Given the description of an element on the screen output the (x, y) to click on. 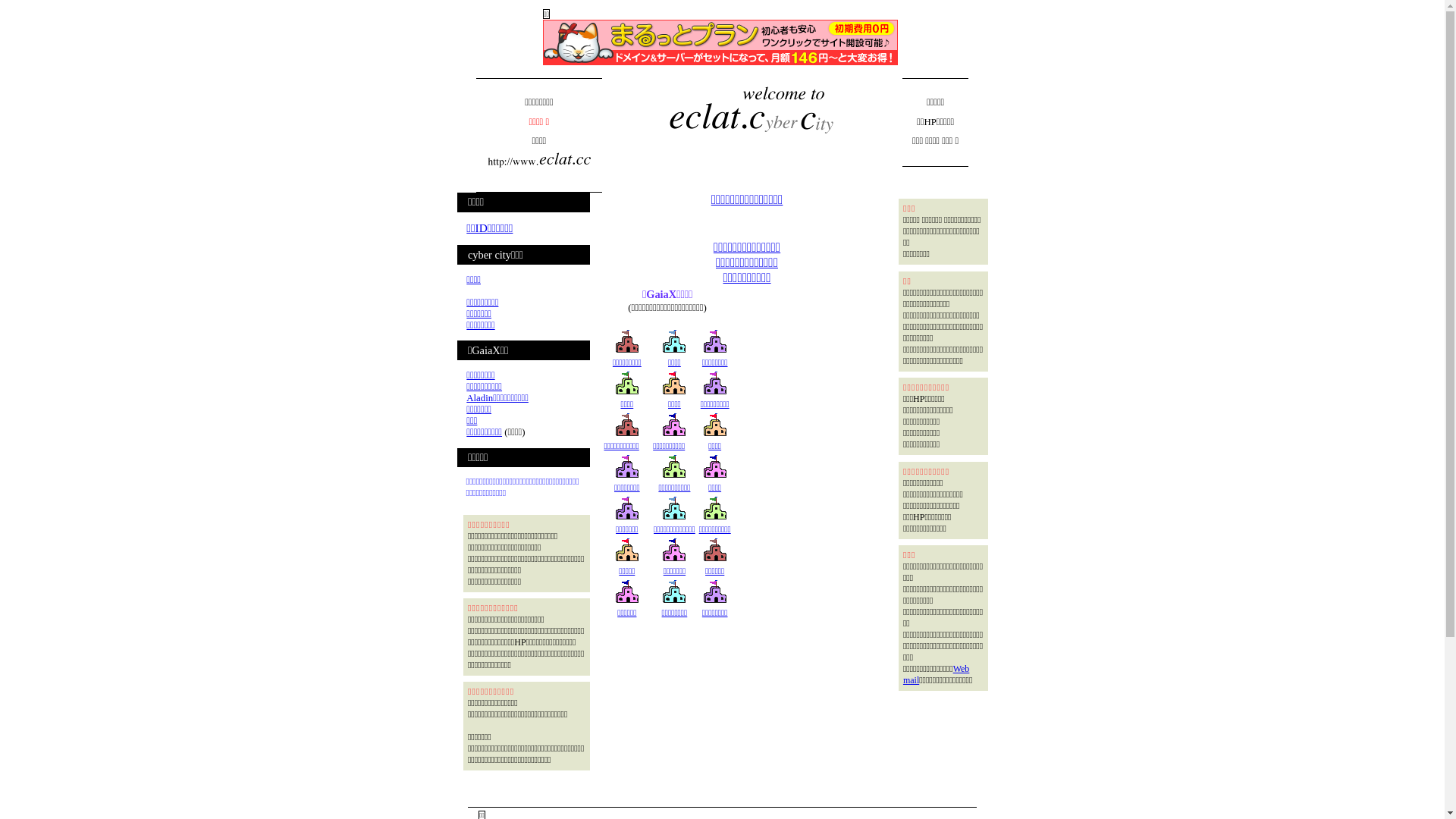
Web mail Element type: text (936, 674)
